Given the description of an element on the screen output the (x, y) to click on. 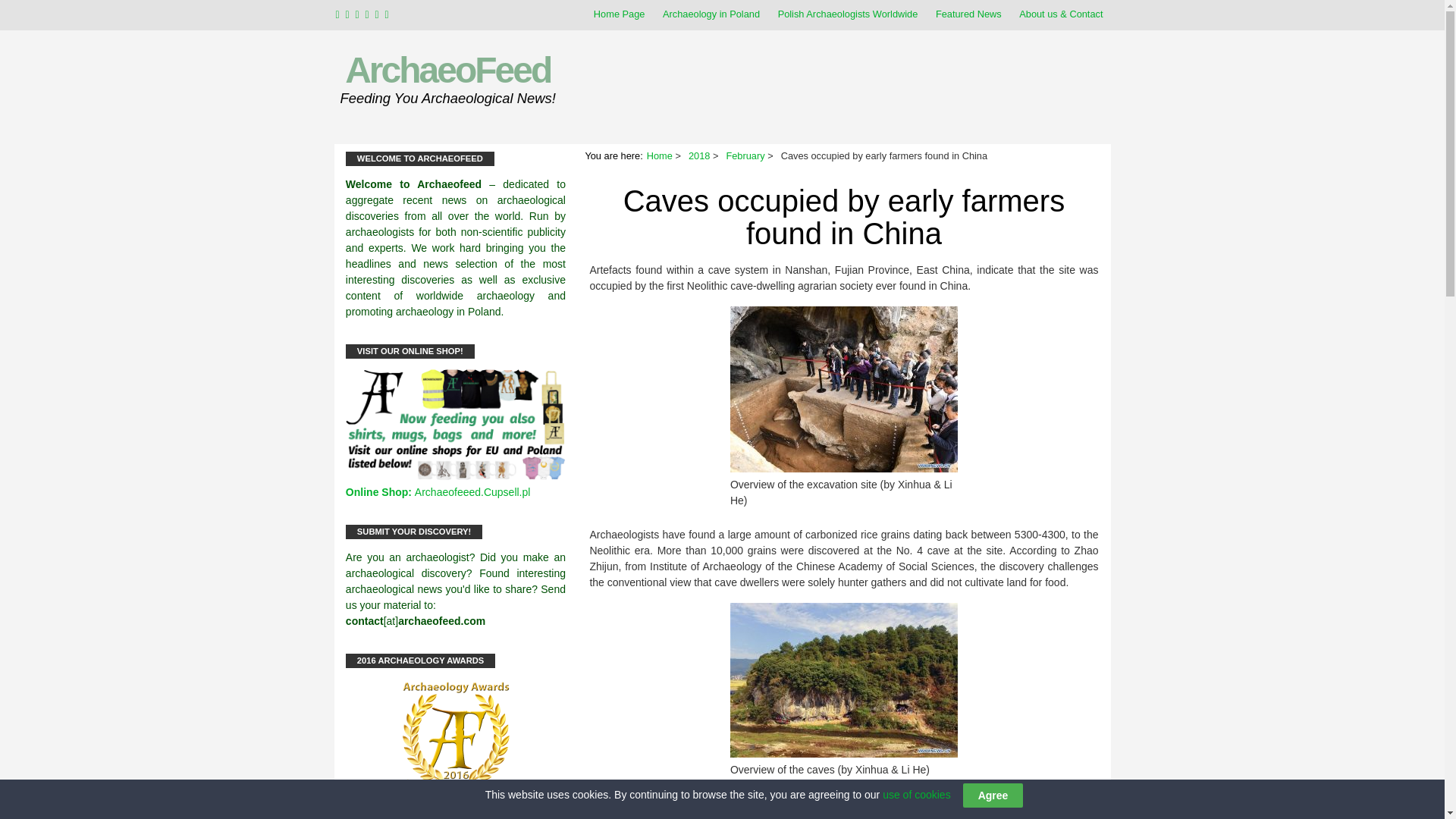
February (744, 155)
Archaeology in Poland (711, 13)
Home Page (619, 13)
Featured News (968, 13)
Visit our online shop! (456, 476)
ArchaeoFeed (447, 69)
2018 (699, 155)
Home (659, 155)
2016 Archaeology Awards (456, 735)
Polish Archaeologists Worldwide (848, 13)
